Given the description of an element on the screen output the (x, y) to click on. 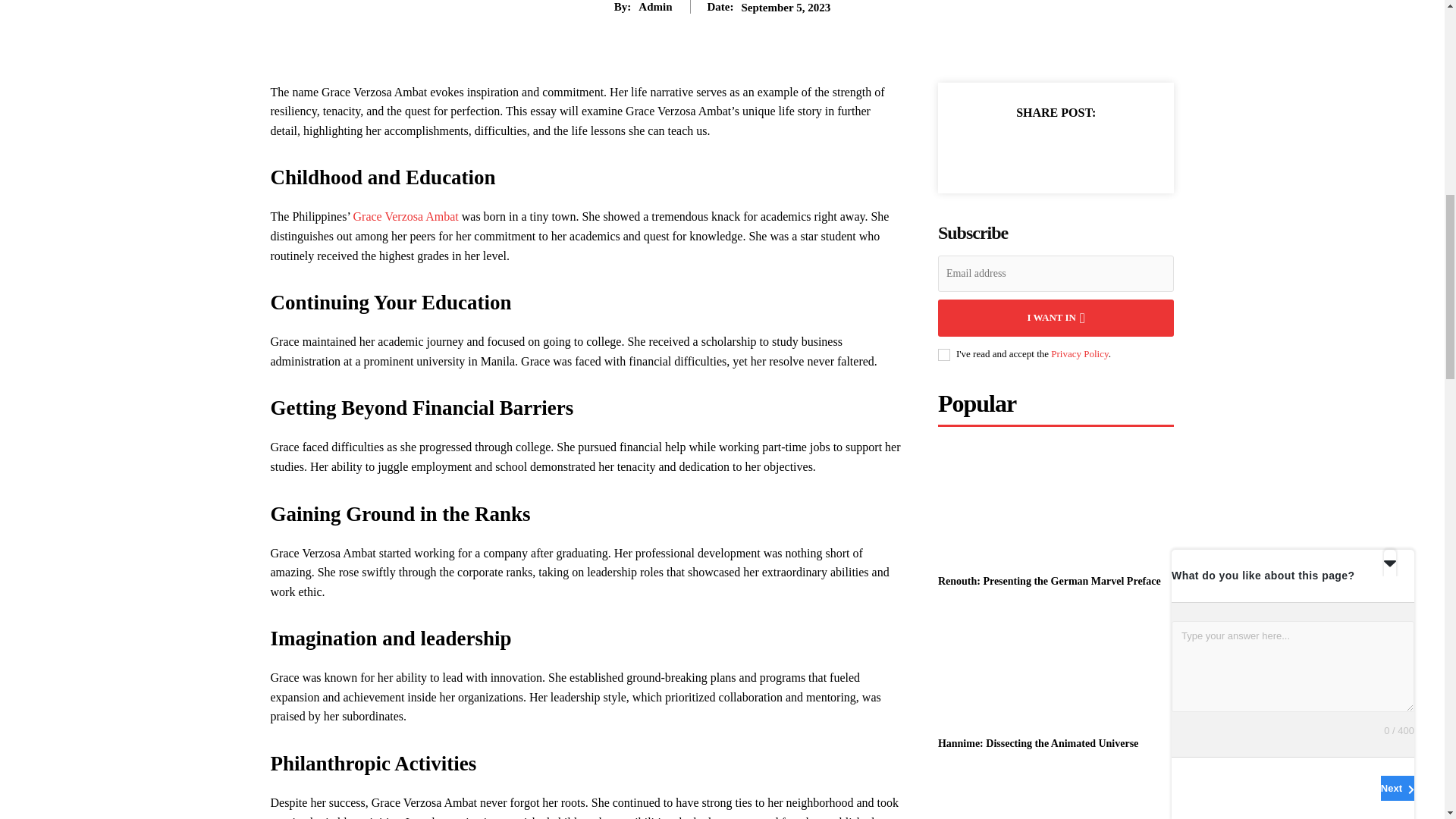
Grace Verzosa Ambat (404, 215)
Hannime: Dissecting the Animated Universe (1055, 667)
What is Elopar? (1055, 795)
Renouth: Presenting the German Marvel Preface (1048, 581)
Admin (655, 6)
Renouth: Presenting the German Marvel Preface (1055, 504)
Hannime: Dissecting the Animated Universe (1037, 743)
